Given the description of an element on the screen output the (x, y) to click on. 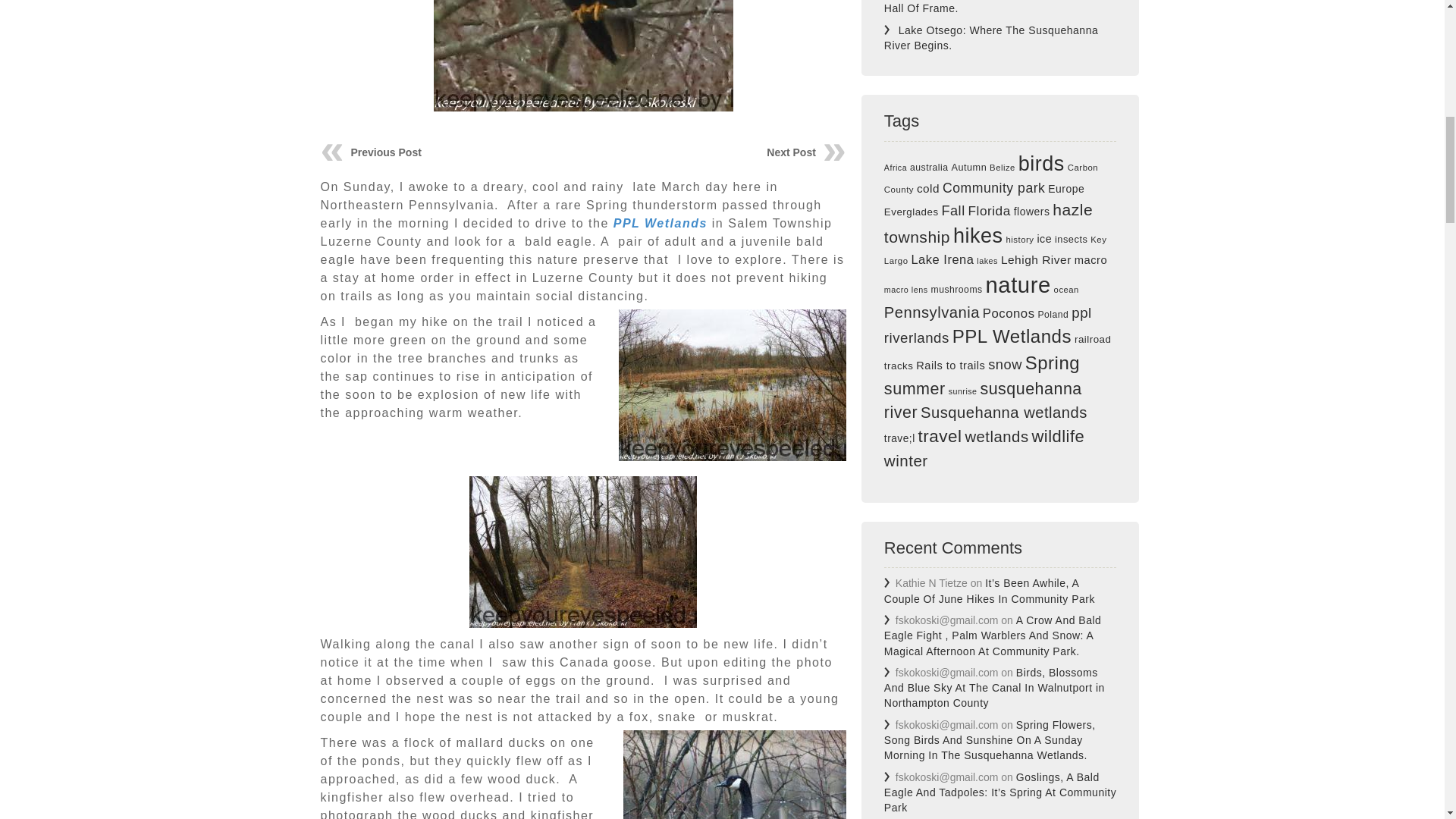
PPL Wetlands (659, 223)
Next Post (791, 152)
Previous Post (385, 152)
